Given the description of an element on the screen output the (x, y) to click on. 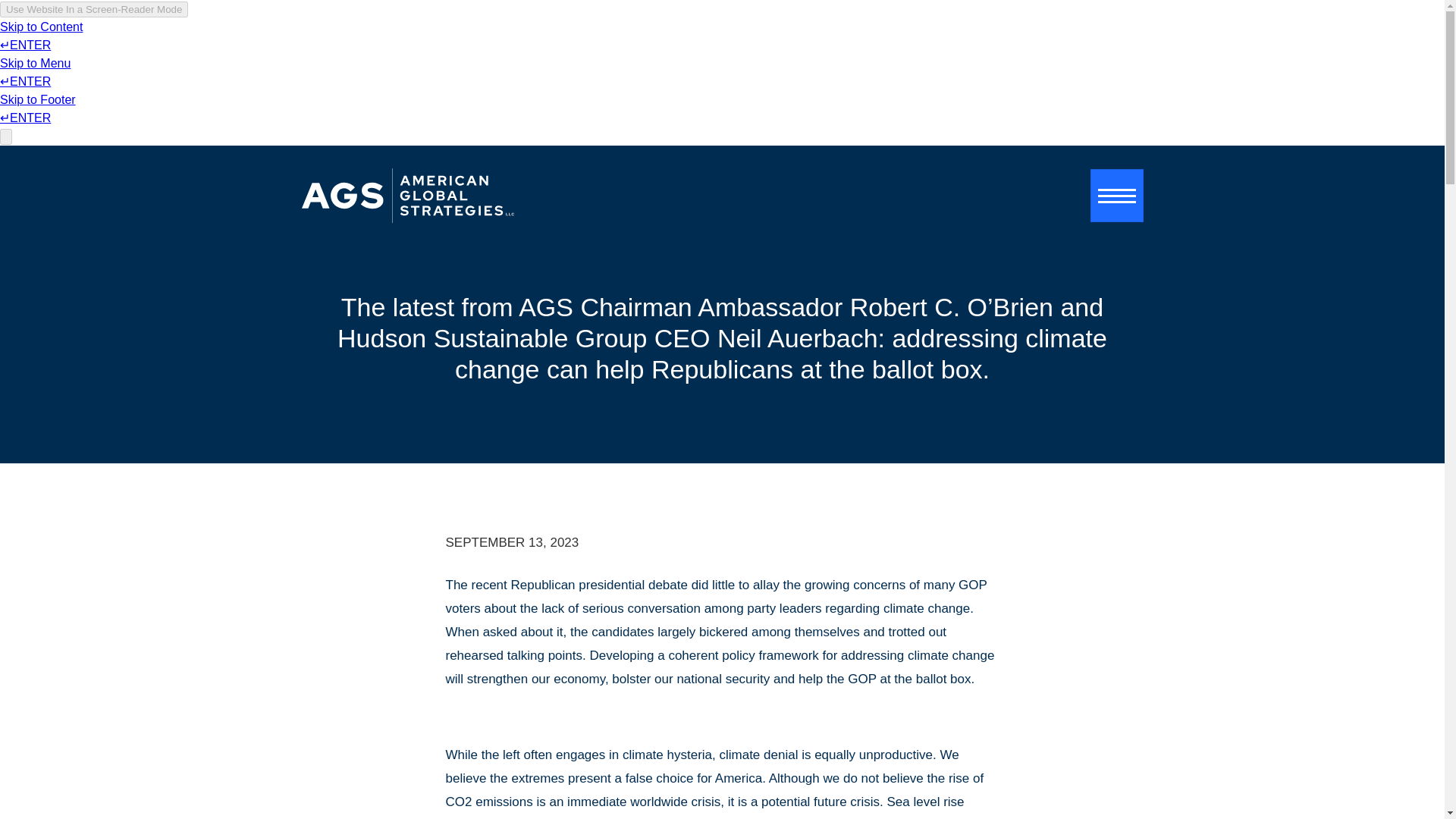
Toggle navigation (1116, 194)
